Given the description of an element on the screen output the (x, y) to click on. 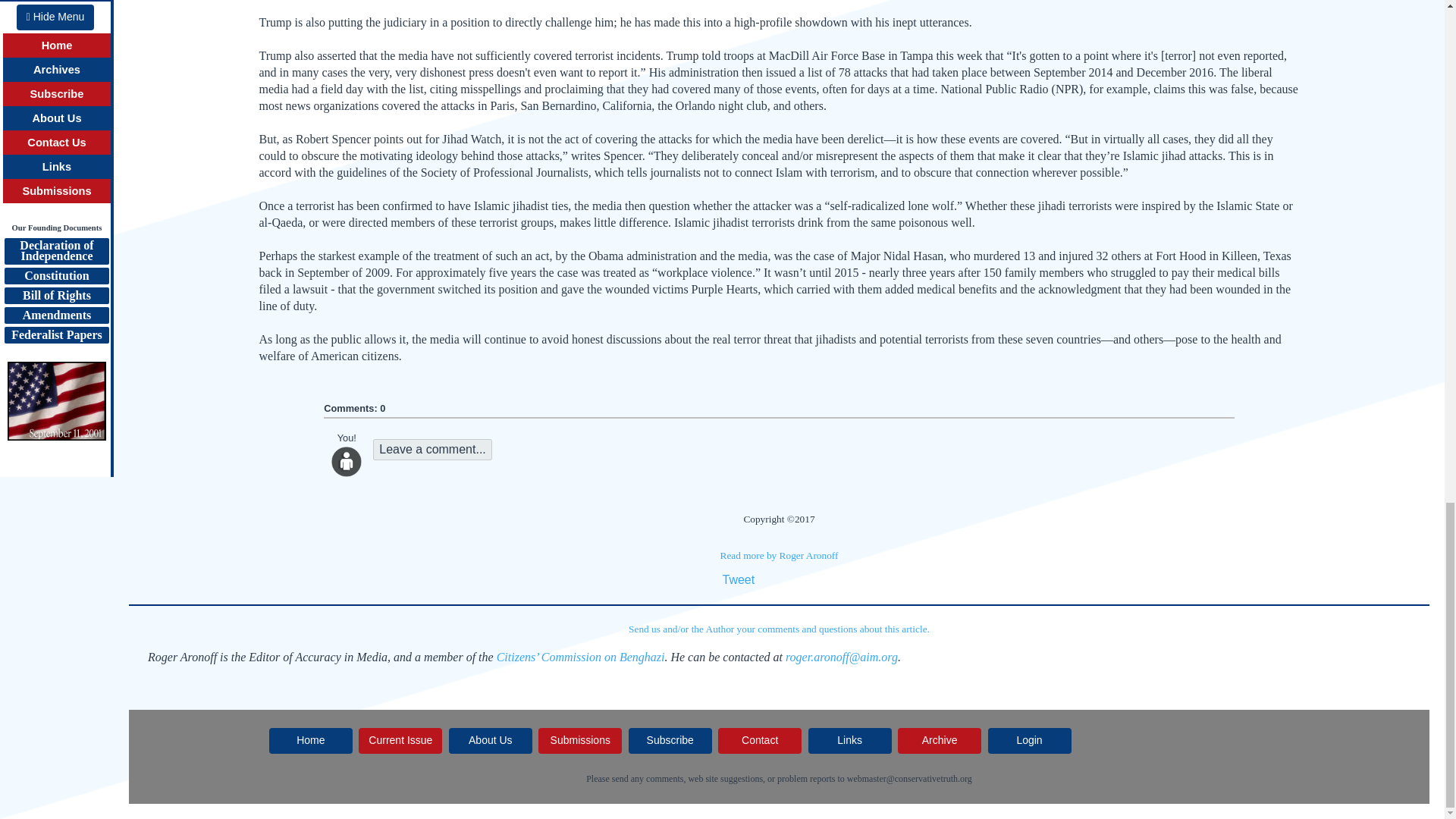
Tweet (738, 579)
Login (1029, 740)
Archive (939, 740)
Leave a comment... (432, 449)
Current Issue (400, 740)
Links (849, 740)
About Us (490, 740)
Submissions (579, 740)
Subscribe (669, 740)
Contact (759, 740)
Home (310, 740)
Read more by Roger Aronoff (779, 555)
